Given the description of an element on the screen output the (x, y) to click on. 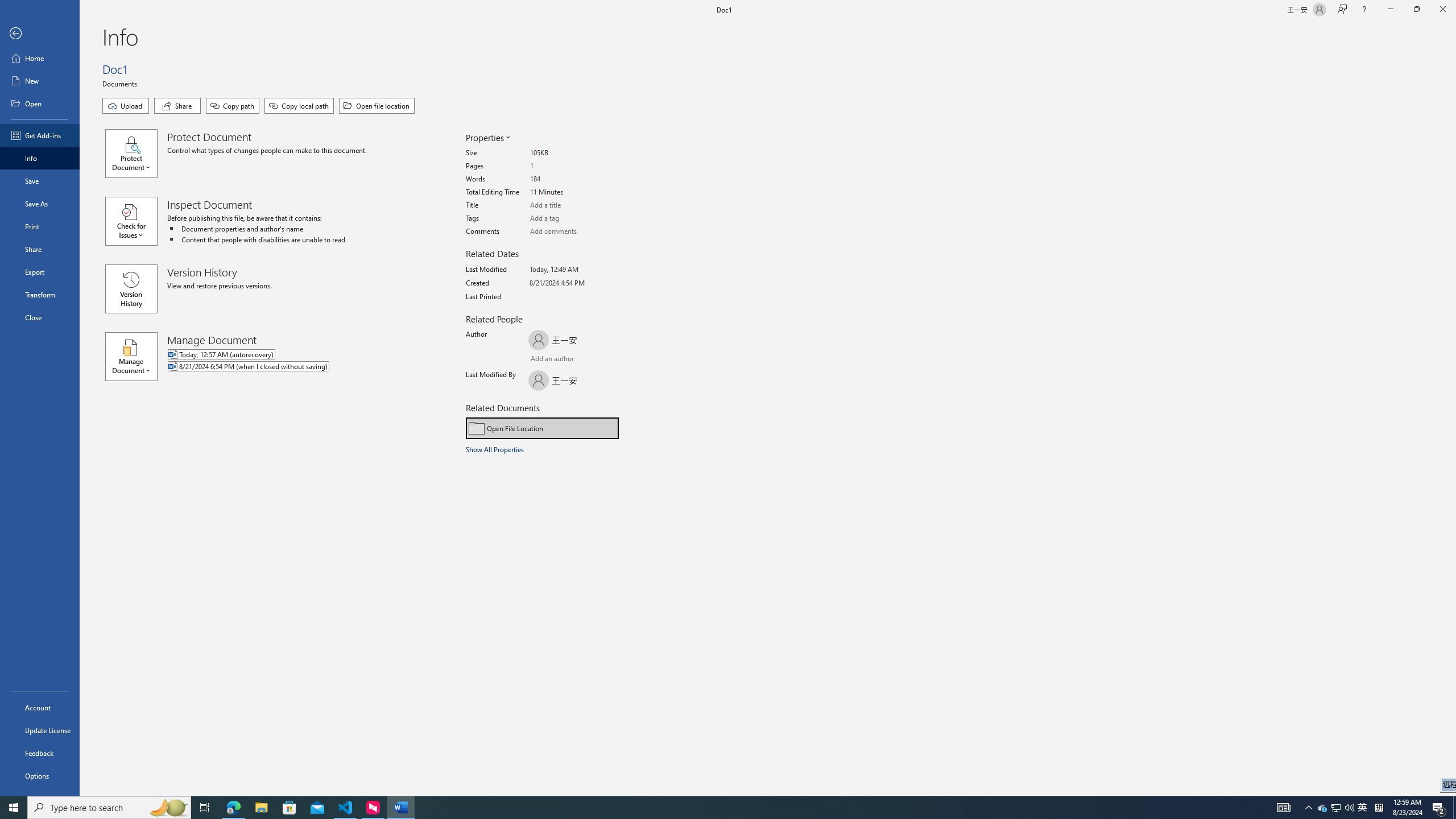
Feedback (40, 753)
Get Add-ins (40, 134)
Copy local path (298, 105)
Show All Properties (495, 448)
Print (40, 225)
